Given the description of an element on the screen output the (x, y) to click on. 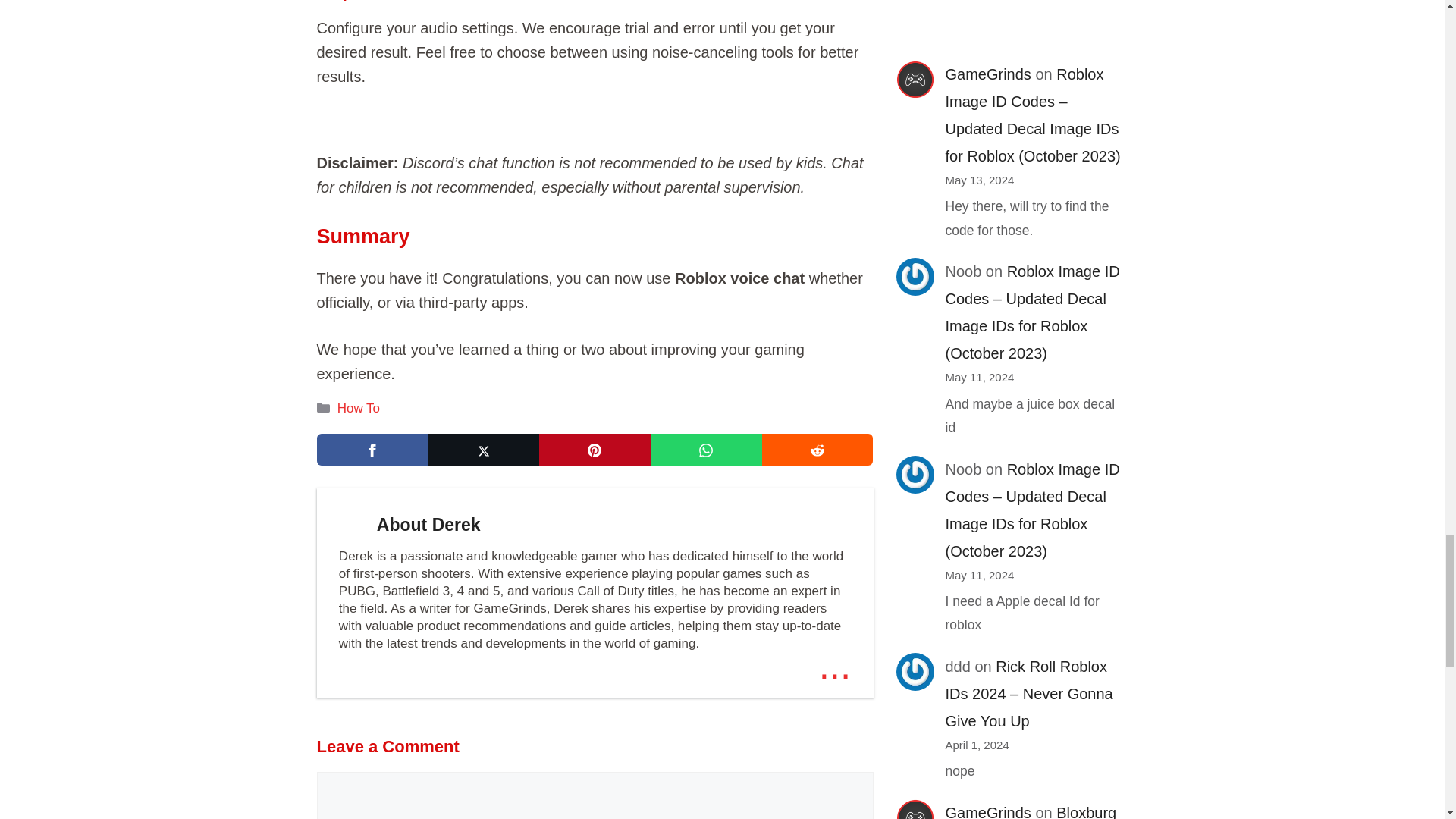
How To (358, 408)
